Given the description of an element on the screen output the (x, y) to click on. 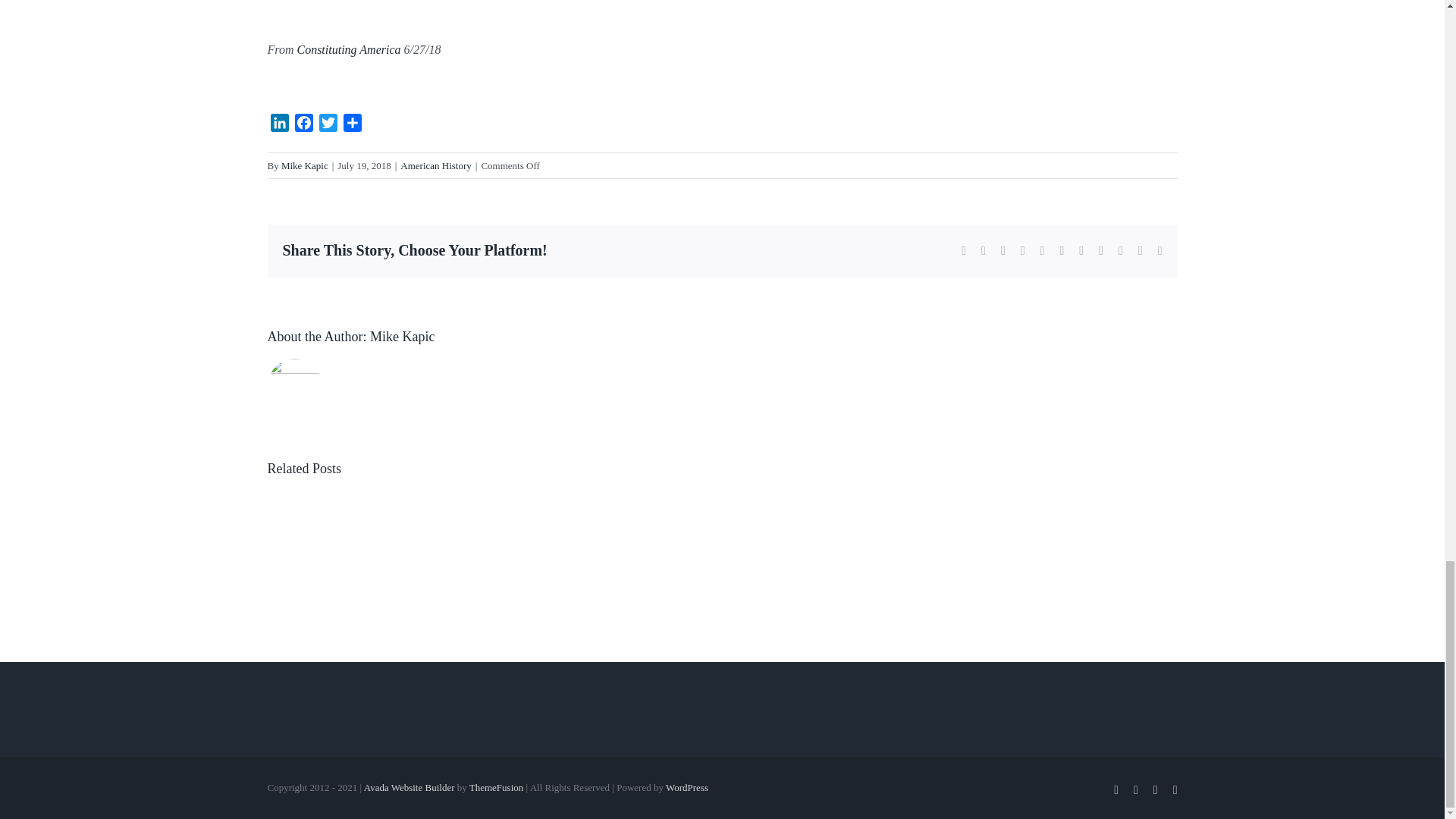
Twitter (327, 125)
LinkedIn (278, 125)
Mike Kapic (401, 336)
LinkedIn (278, 125)
Constituting America (348, 49)
Facebook (303, 125)
Mike Kapic (305, 164)
Facebook (303, 125)
American History (435, 164)
Twitter (327, 125)
Posts by Mike Kapic (305, 164)
